Given the description of an element on the screen output the (x, y) to click on. 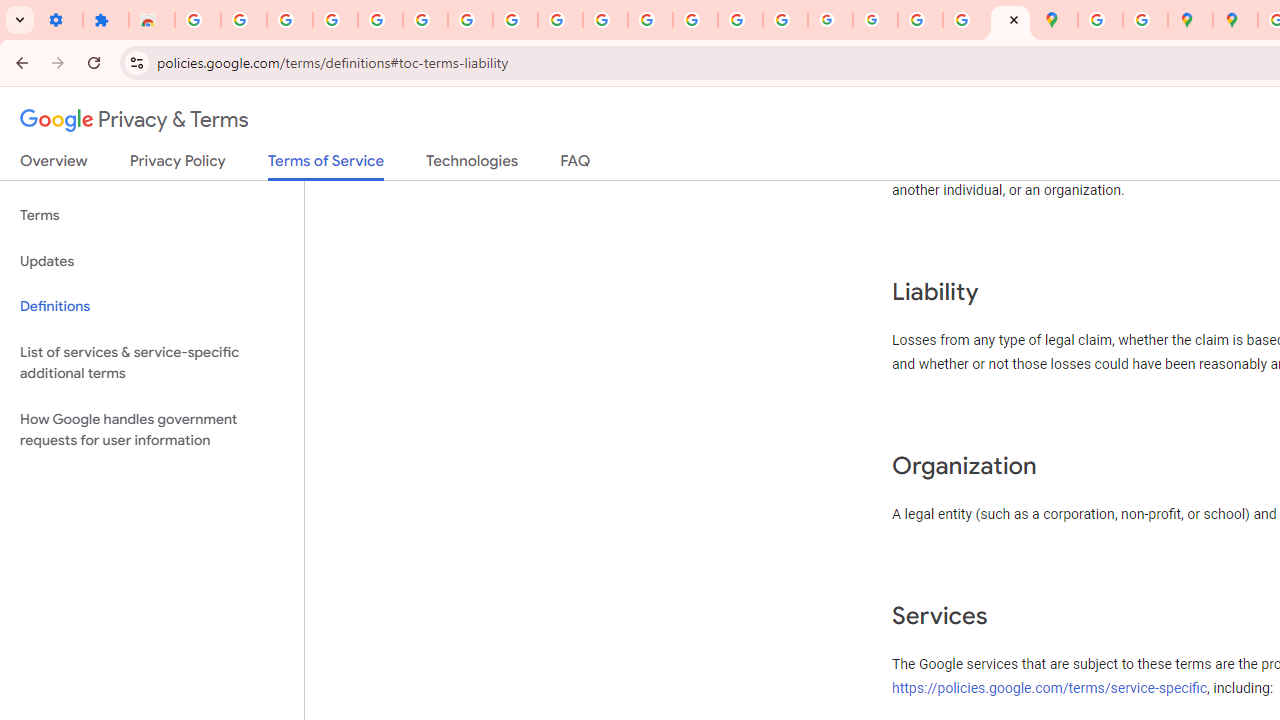
Search tabs (20, 20)
Back (19, 62)
